Given the description of an element on the screen output the (x, y) to click on. 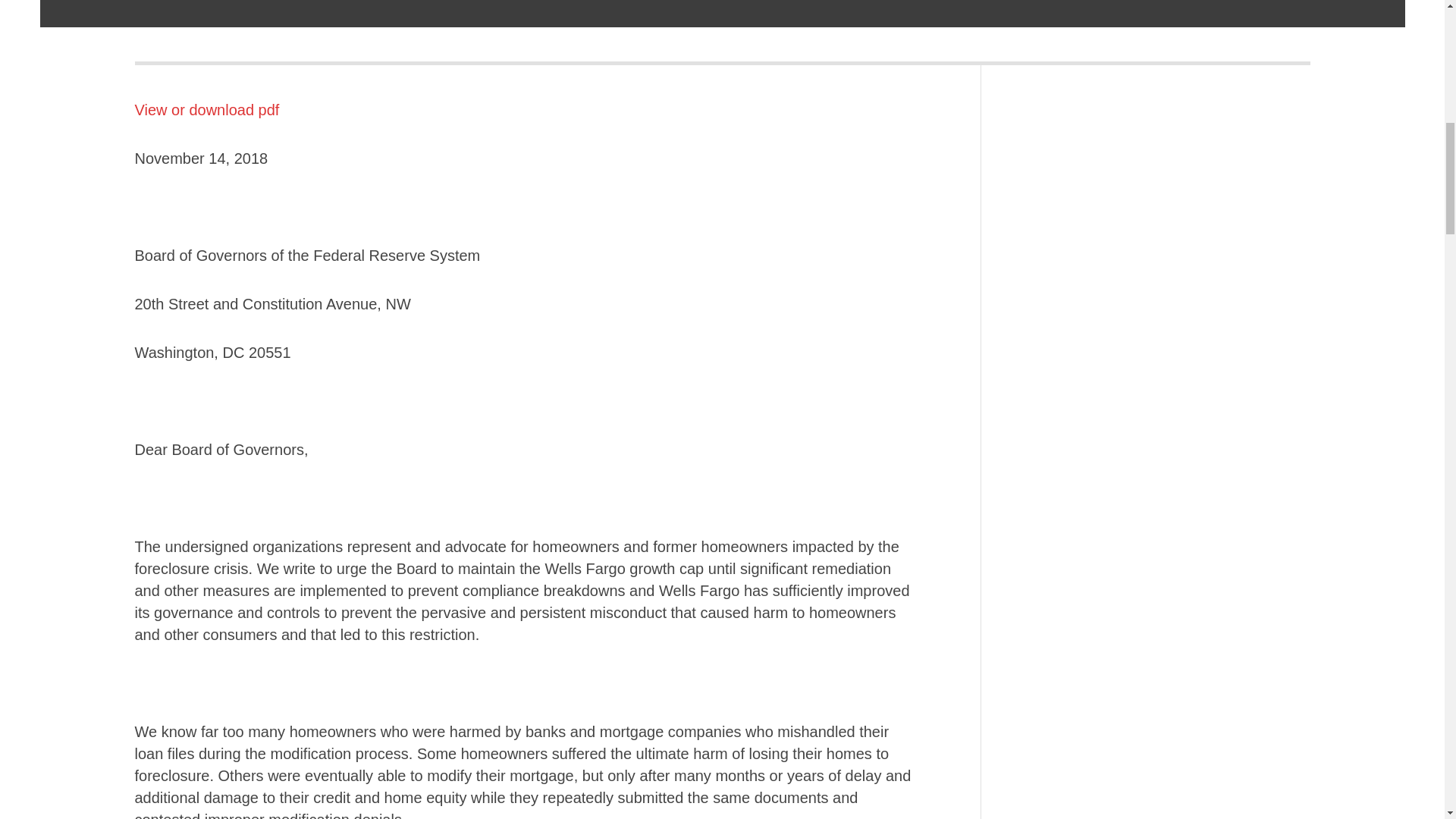
View or download pdf (207, 109)
